Given the description of an element on the screen output the (x, y) to click on. 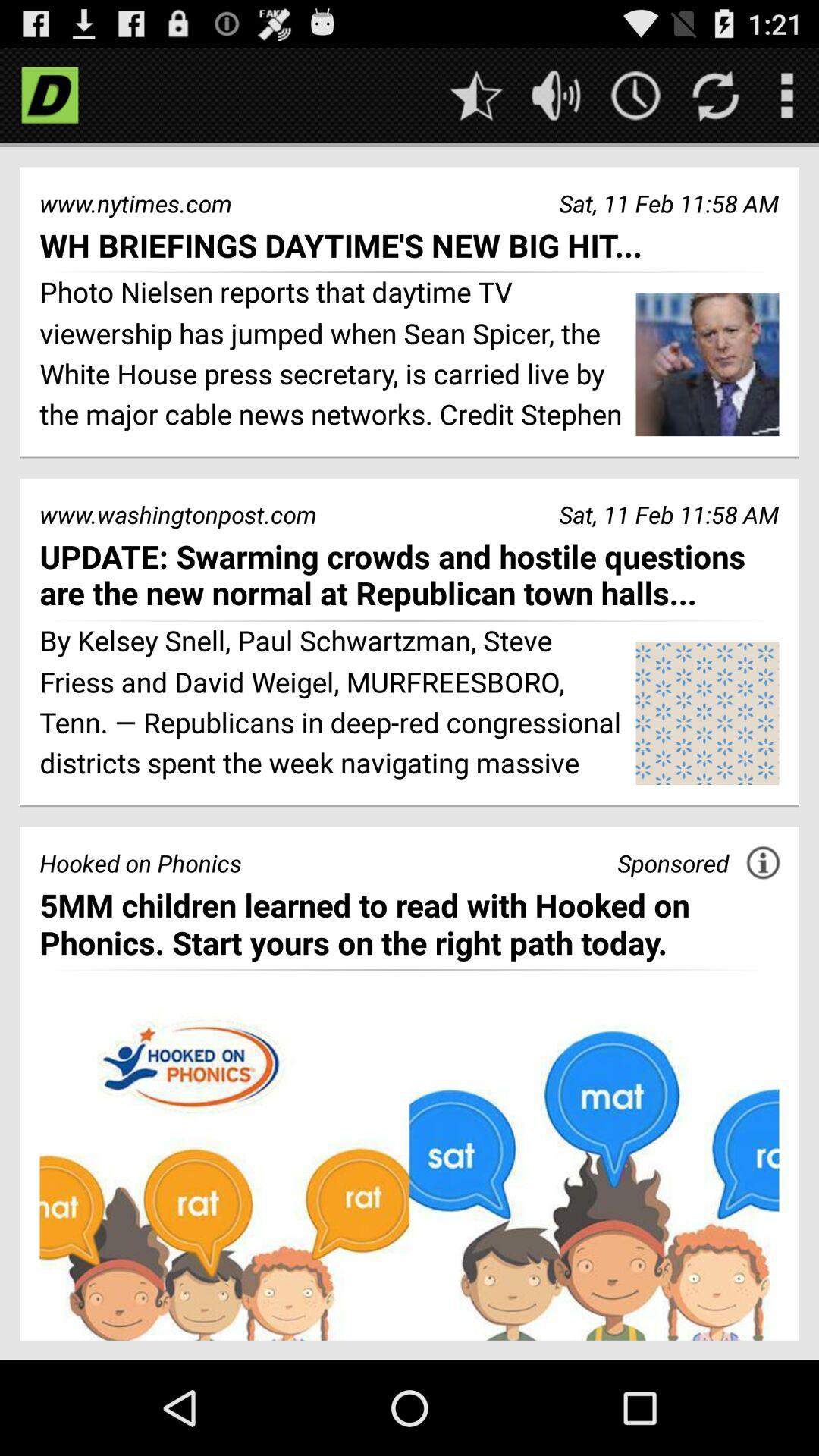
refresh page entries (715, 95)
